Given the description of an element on the screen output the (x, y) to click on. 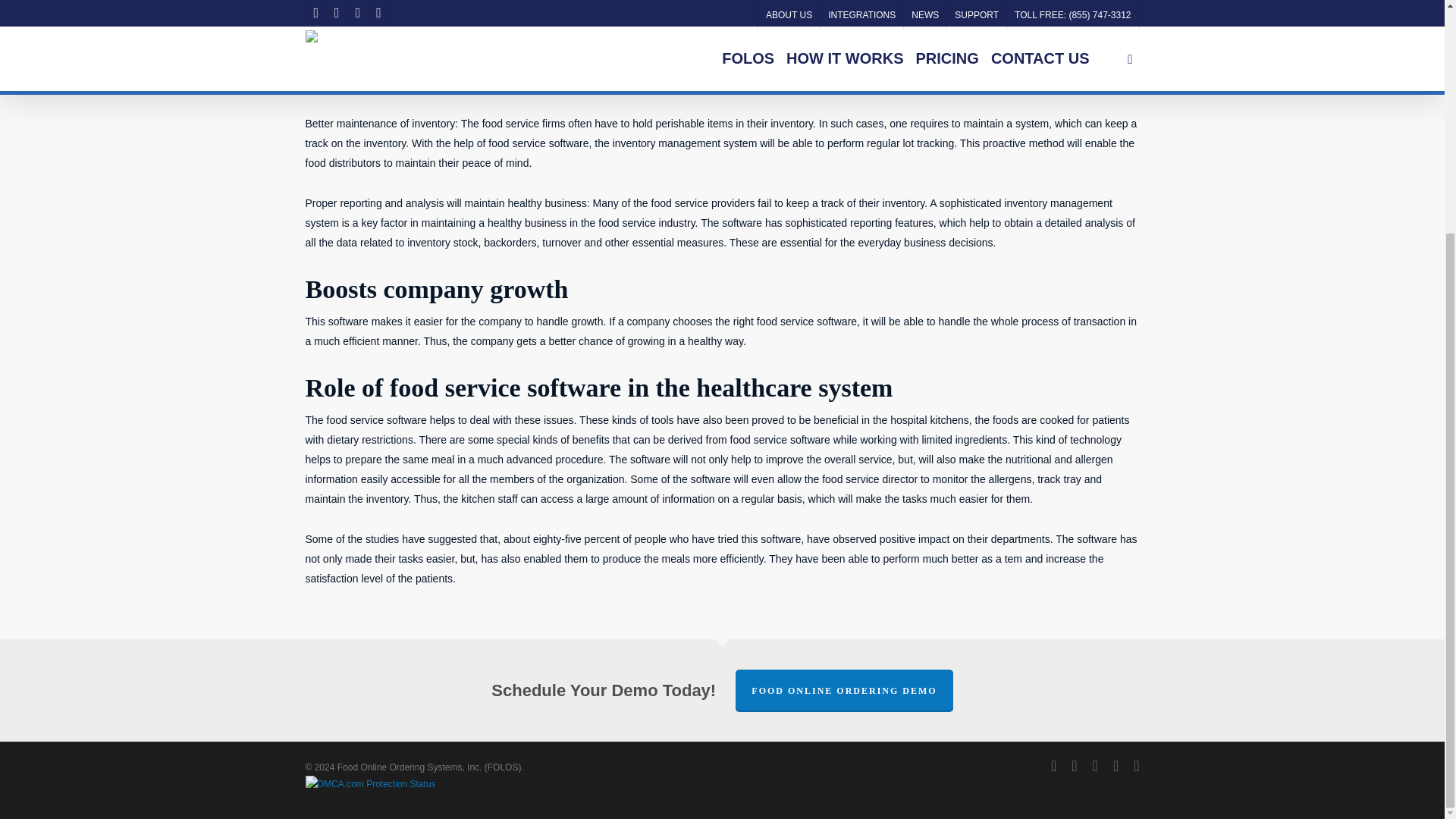
DMCA.com Protection Status (369, 783)
FOOD ONLINE ORDERING DEMO (843, 690)
